Given the description of an element on the screen output the (x, y) to click on. 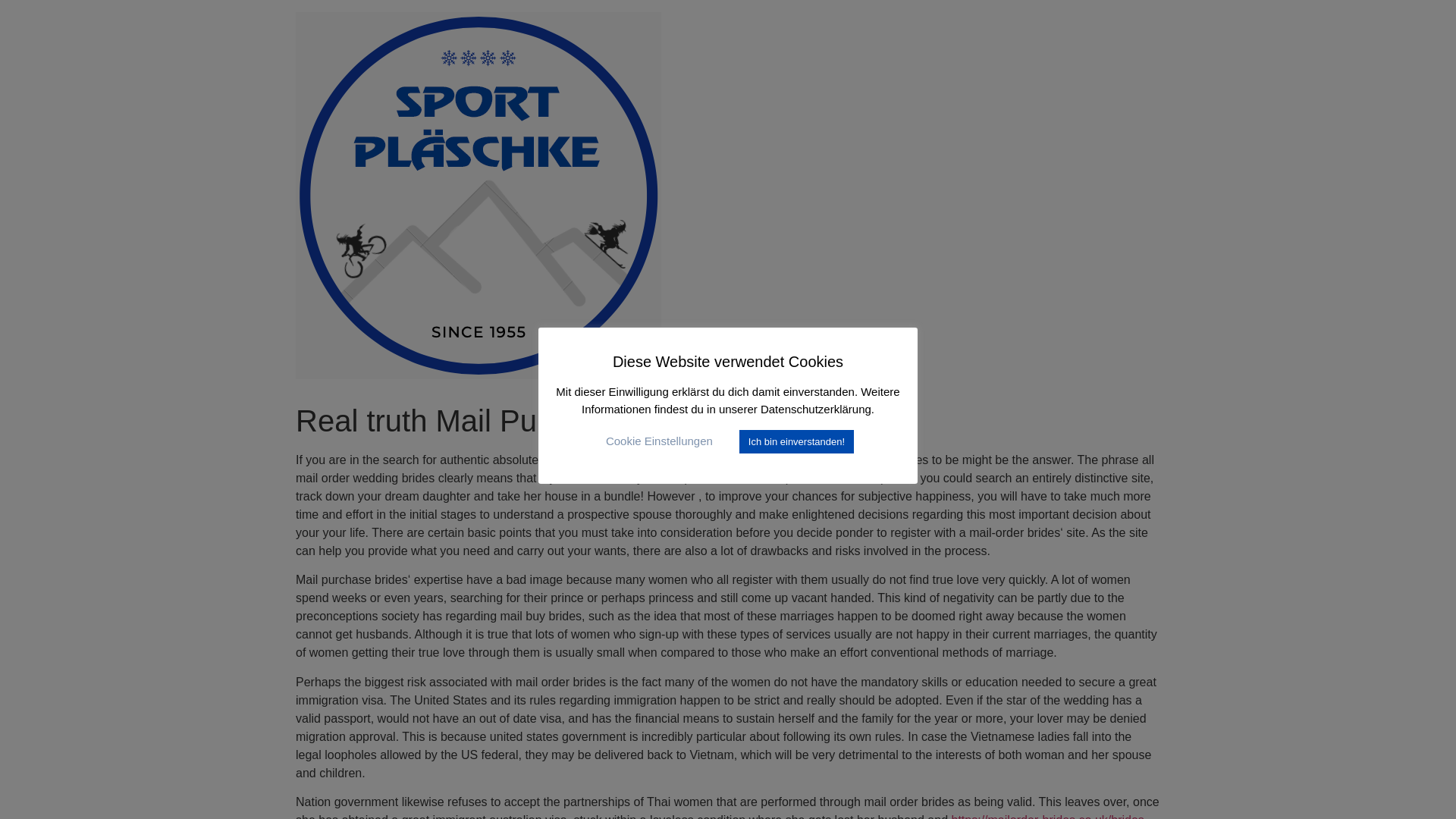
Cookie Einstellungen (659, 440)
Ich bin einverstanden! (796, 441)
